Given the description of an element on the screen output the (x, y) to click on. 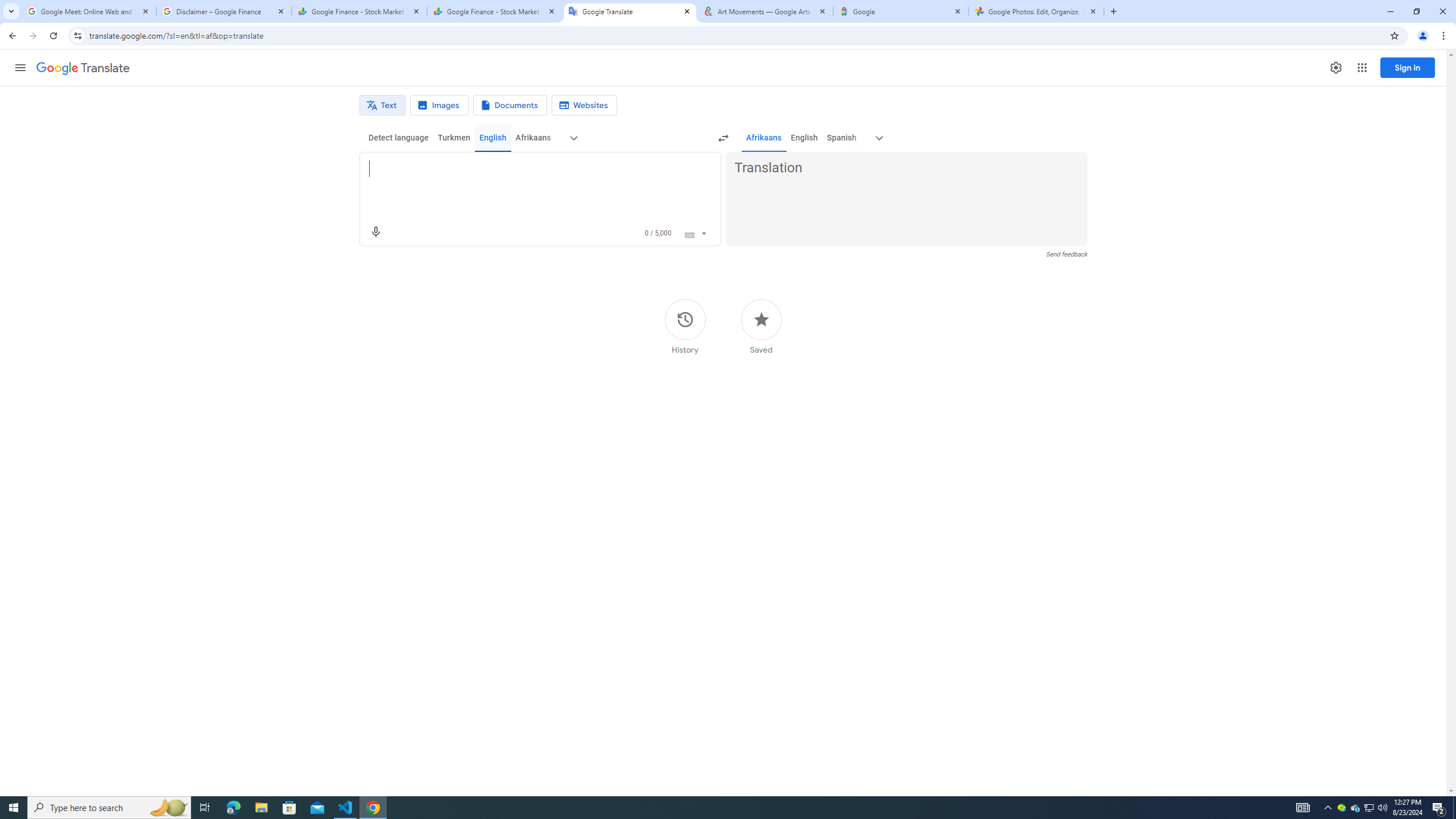
Website translation (584, 105)
Spanish (840, 137)
